Given the description of an element on the screen output the (x, y) to click on. 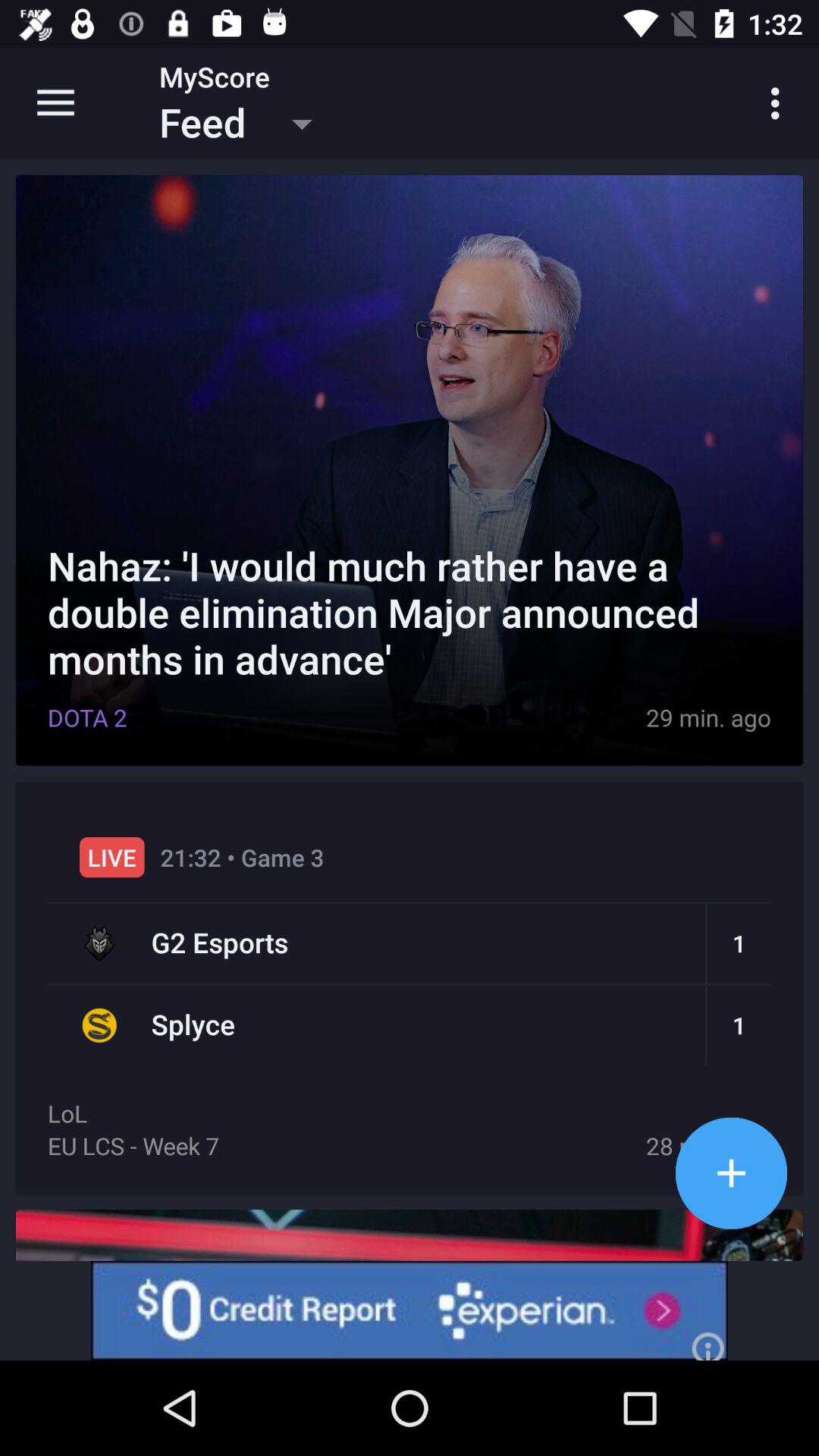
click to add option (731, 1173)
